Given the description of an element on the screen output the (x, y) to click on. 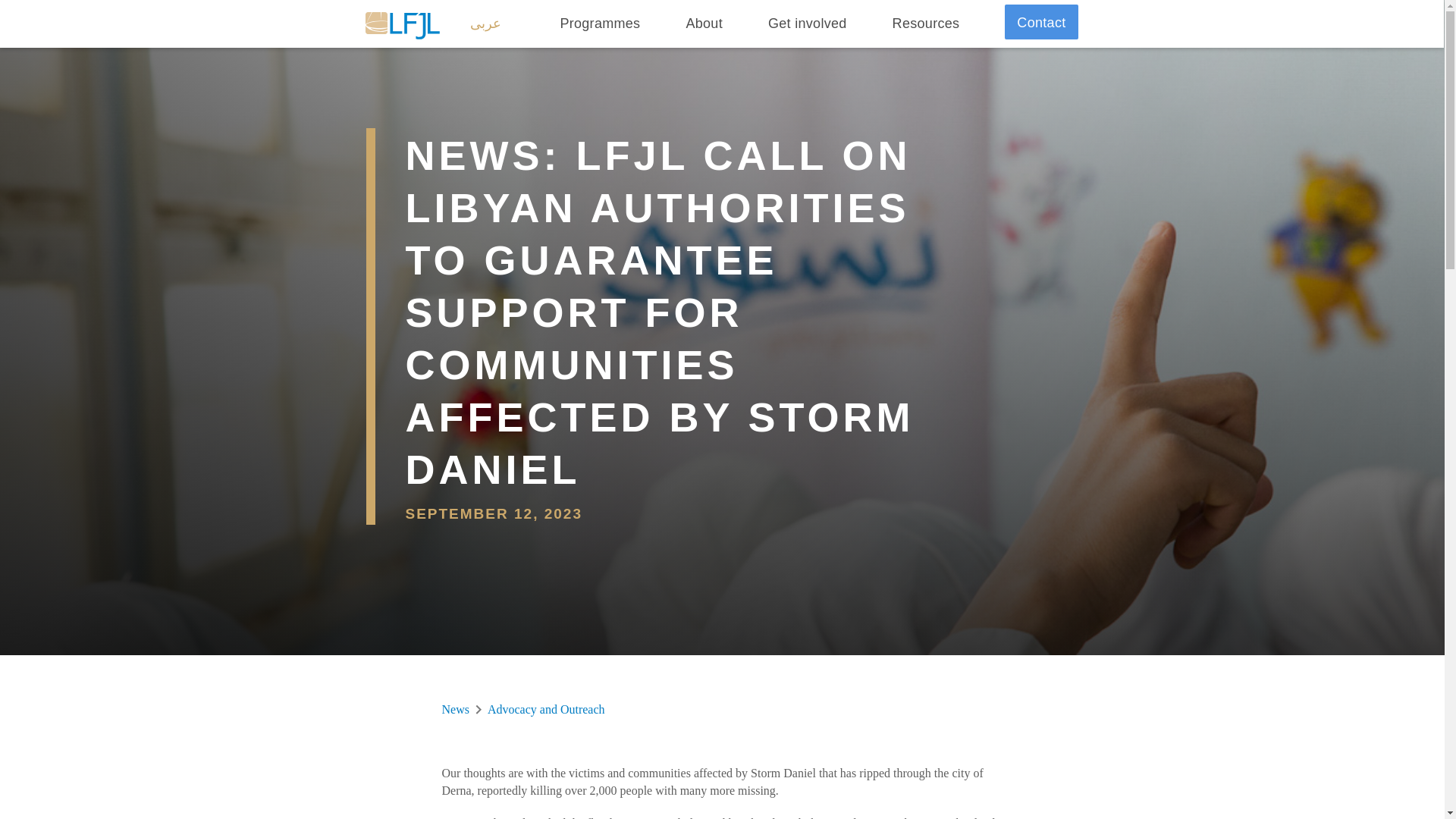
Contact (1040, 21)
Get involved (807, 23)
Resources (925, 23)
News (454, 710)
Programmes (599, 23)
About (703, 23)
Advocacy and Outreach (546, 710)
